Given the description of an element on the screen output the (x, y) to click on. 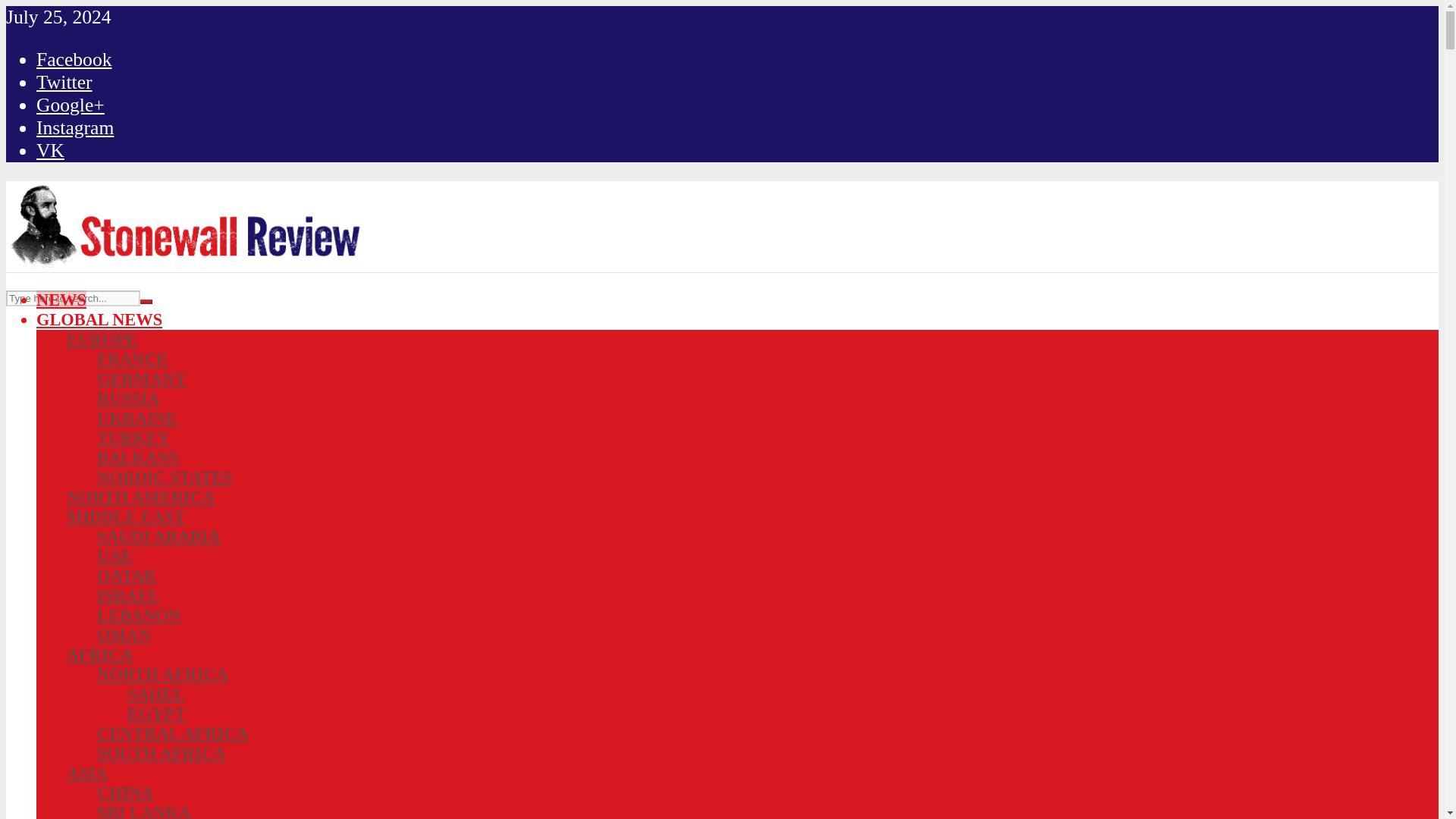
Instagram (74, 127)
SAHEL (156, 693)
GLOBAL NEWS (98, 319)
LEBANON (138, 615)
ASIA (86, 772)
NEWS (60, 299)
Facebook (74, 59)
MIDDLE EAST (125, 516)
CHINA (125, 792)
UKRAINE (137, 417)
GERMANY (141, 378)
Twitter (64, 82)
ISRAEL (128, 595)
RUSSIA (127, 398)
AFRICA (99, 654)
